Given the description of an element on the screen output the (x, y) to click on. 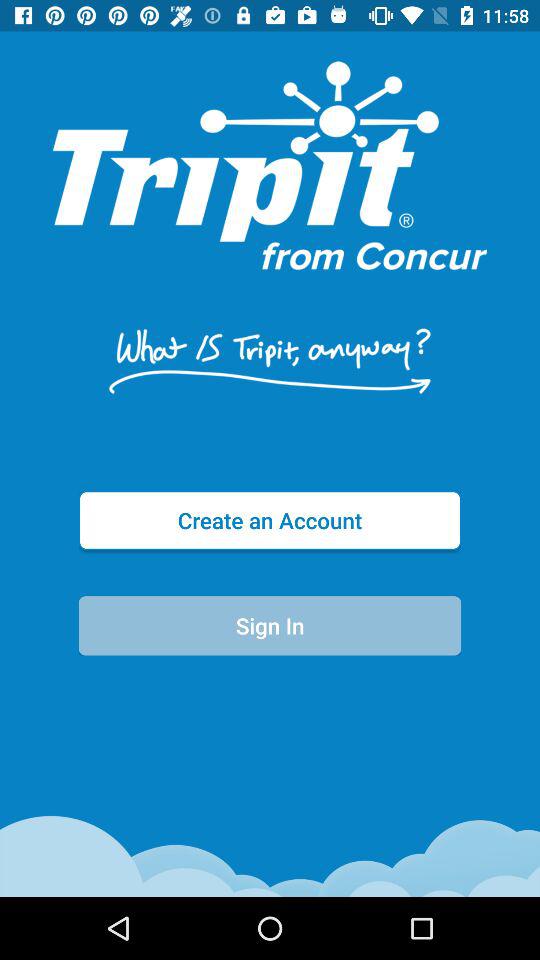
jump until create an account (269, 520)
